Given the description of an element on the screen output the (x, y) to click on. 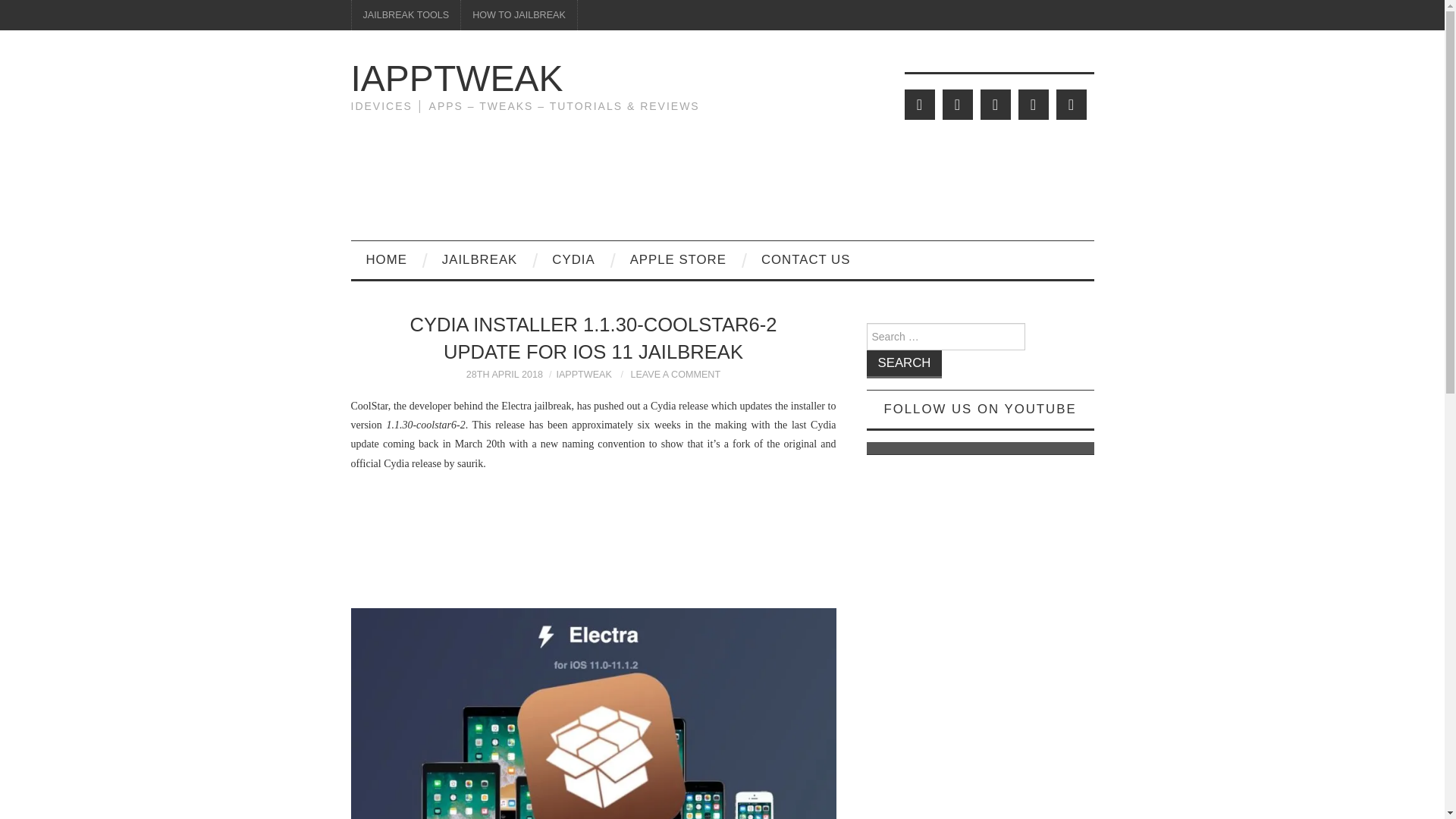
Facebook (957, 104)
IAPPTWEAK (583, 374)
HOW TO JAILBREAK (518, 15)
IAPPTWEAK (456, 78)
Search (904, 364)
Search (904, 364)
Contact iappTweak (805, 259)
APPLE STORE (677, 259)
Advertisement (592, 540)
LEAVE A COMMENT (675, 374)
